Given the description of an element on the screen output the (x, y) to click on. 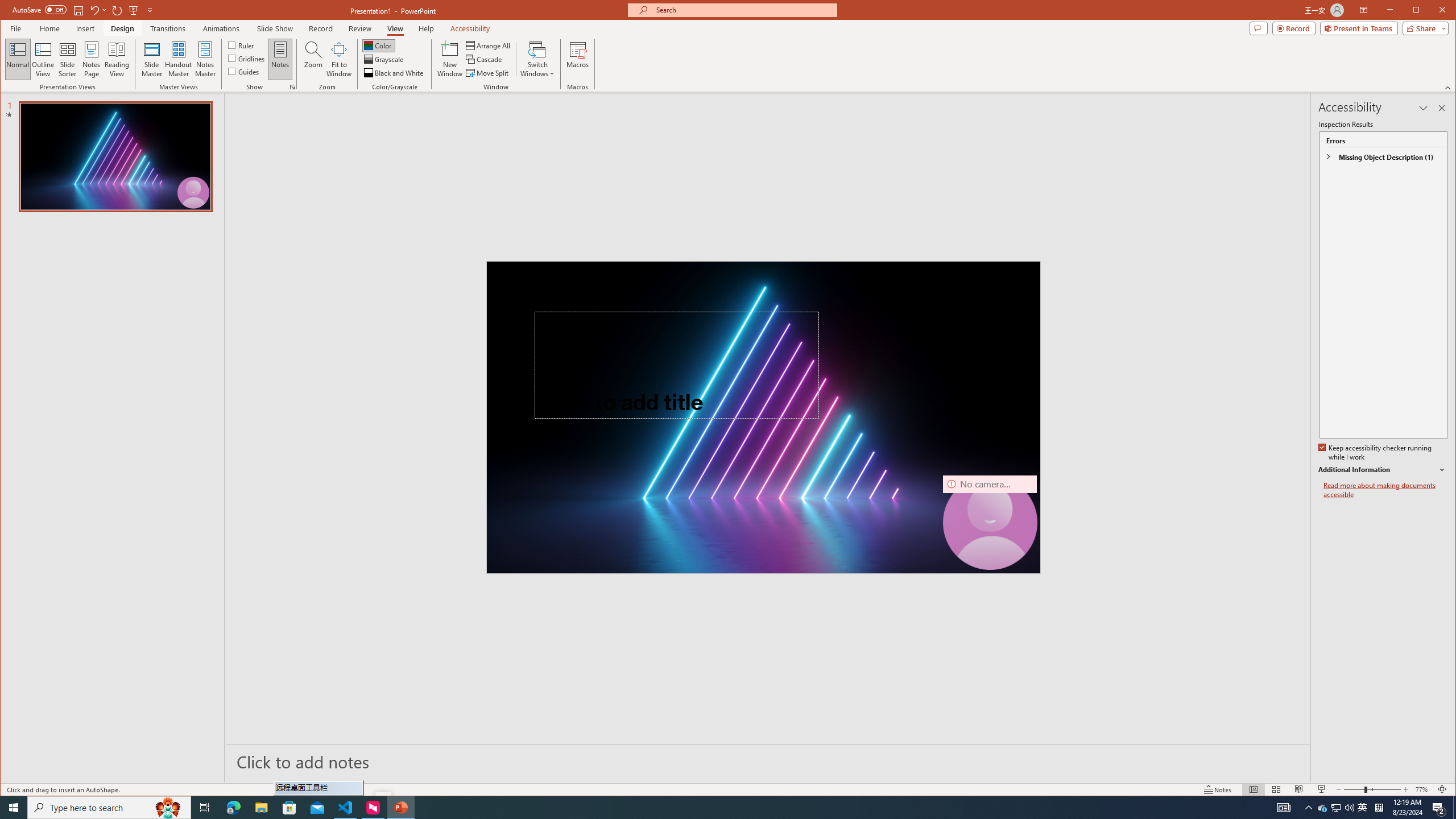
Zoom... (312, 59)
Notes (279, 59)
Action Center, 2 new notifications (1439, 807)
